Given the description of an element on the screen output the (x, y) to click on. 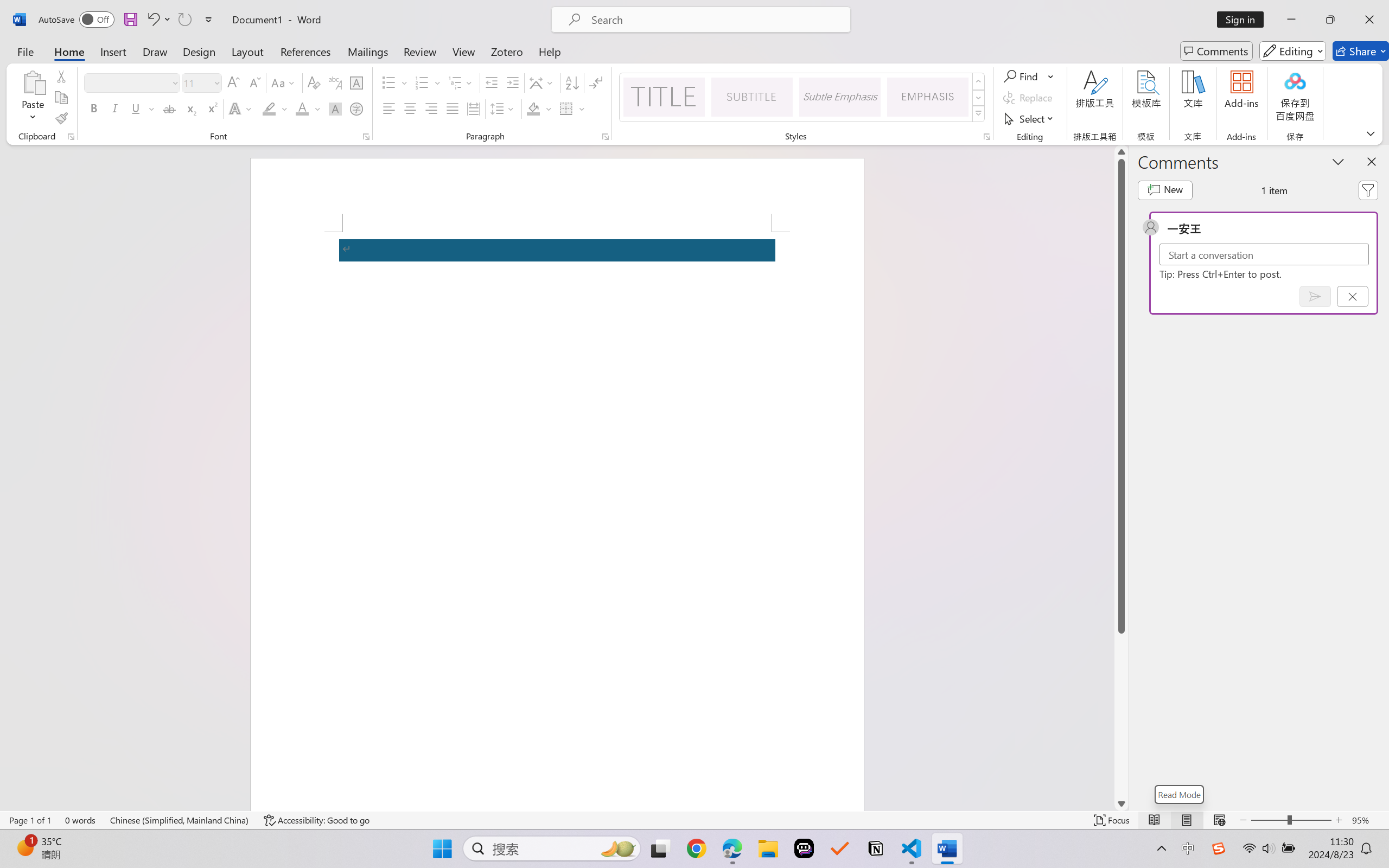
Text Highlight Color RGB(255, 255, 0) (269, 108)
Undo Apply Quick Style Set (152, 19)
